Given the description of an element on the screen output the (x, y) to click on. 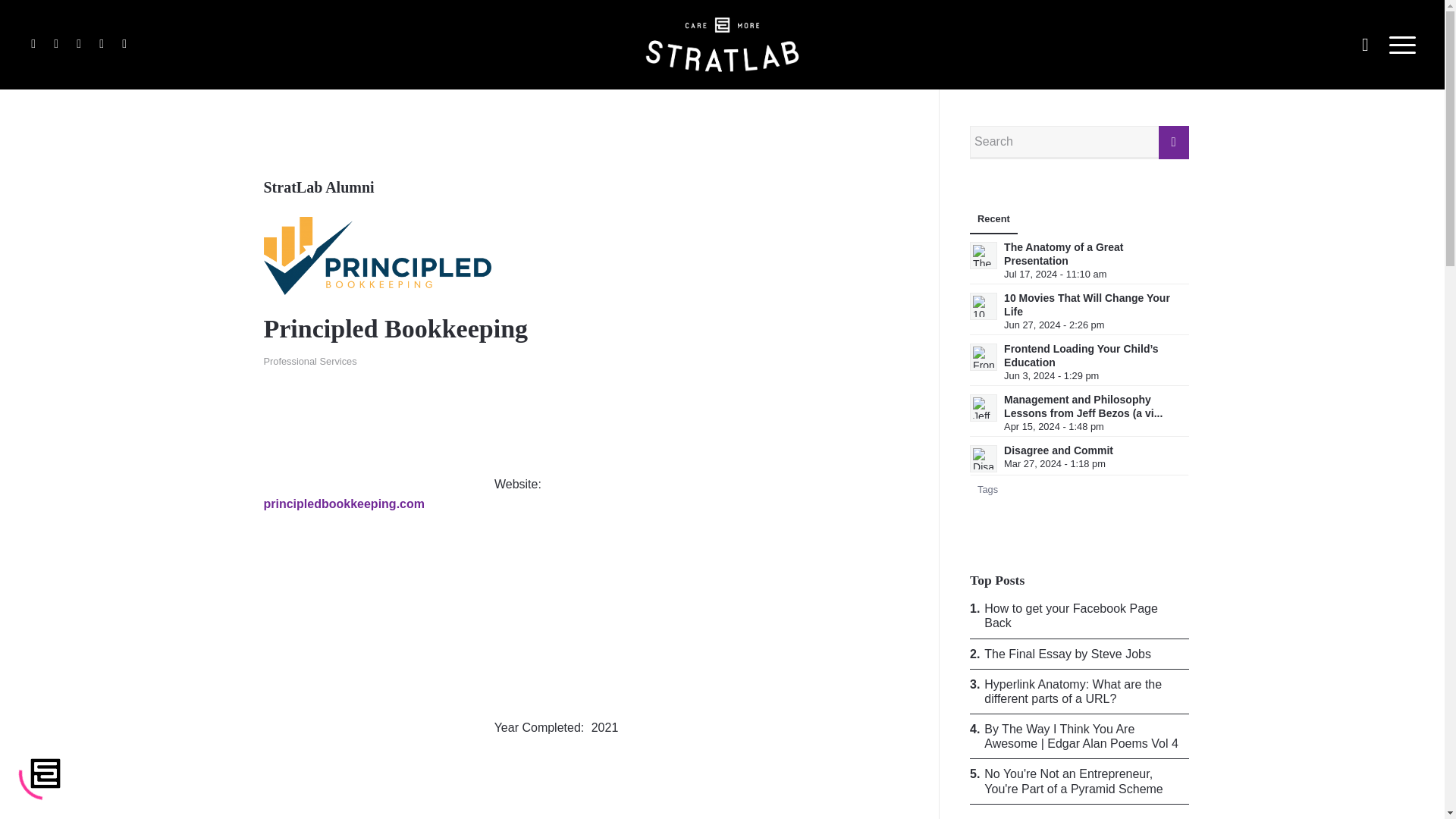
Read: The Anatomy of a Great Presentation (1063, 253)
Read: 10 Movies That Will Change Your Life (1087, 304)
10 Movies That Will Change Your Life (1087, 304)
Read: The Anatomy of a Great Presentation (983, 255)
Loading (45, 773)
principled-bookkeeping-logo-FINAL (377, 255)
500px (124, 43)
Facebook (33, 43)
Read: 10 Movies That Will Change Your Life (983, 306)
Instagram (55, 43)
